Given the description of an element on the screen output the (x, y) to click on. 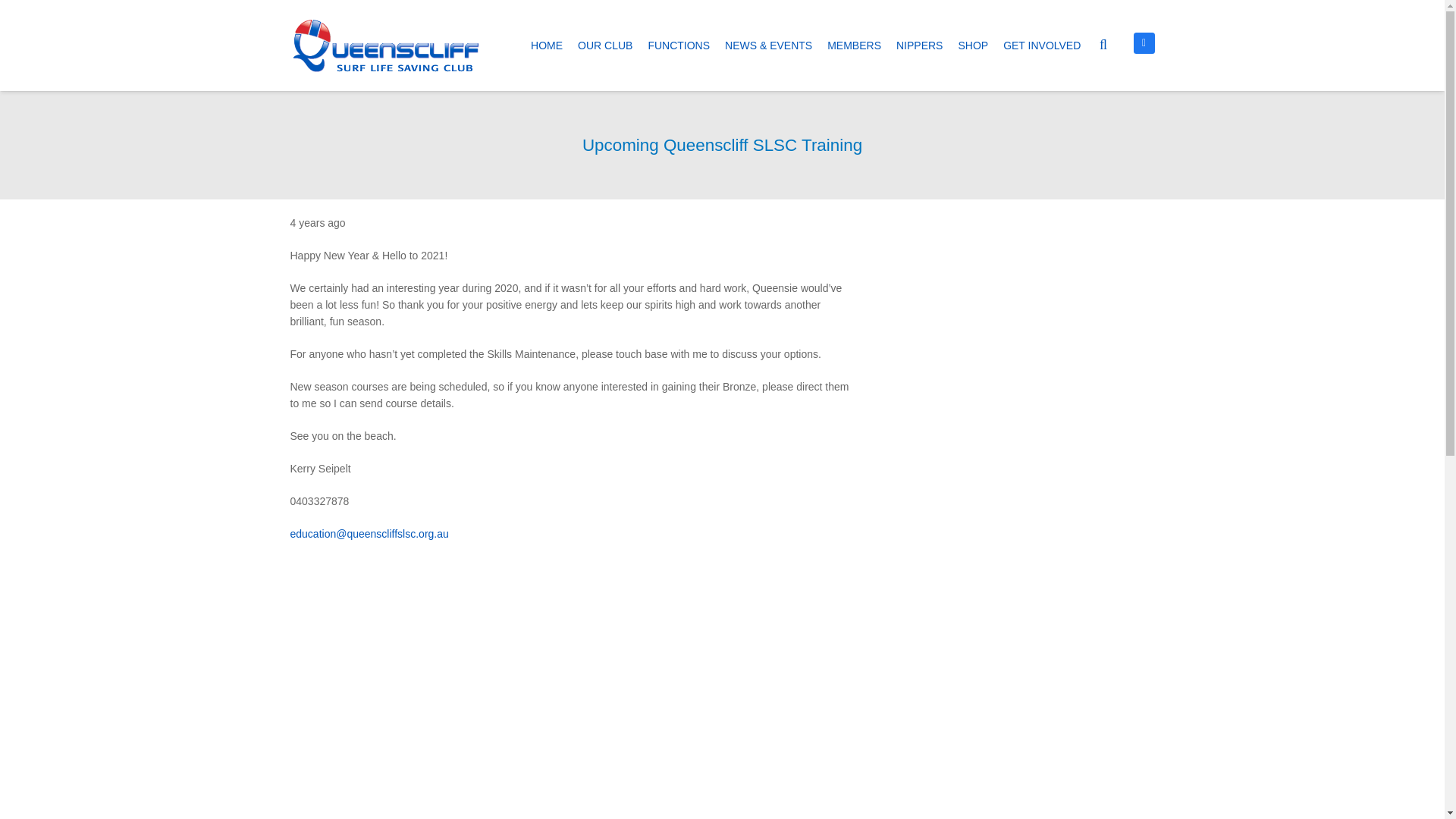
OUR CLUB (605, 45)
MEMBERS (853, 45)
HOME (546, 45)
Facebook (1144, 42)
FUNCTIONS (678, 45)
